Given the description of an element on the screen output the (x, y) to click on. 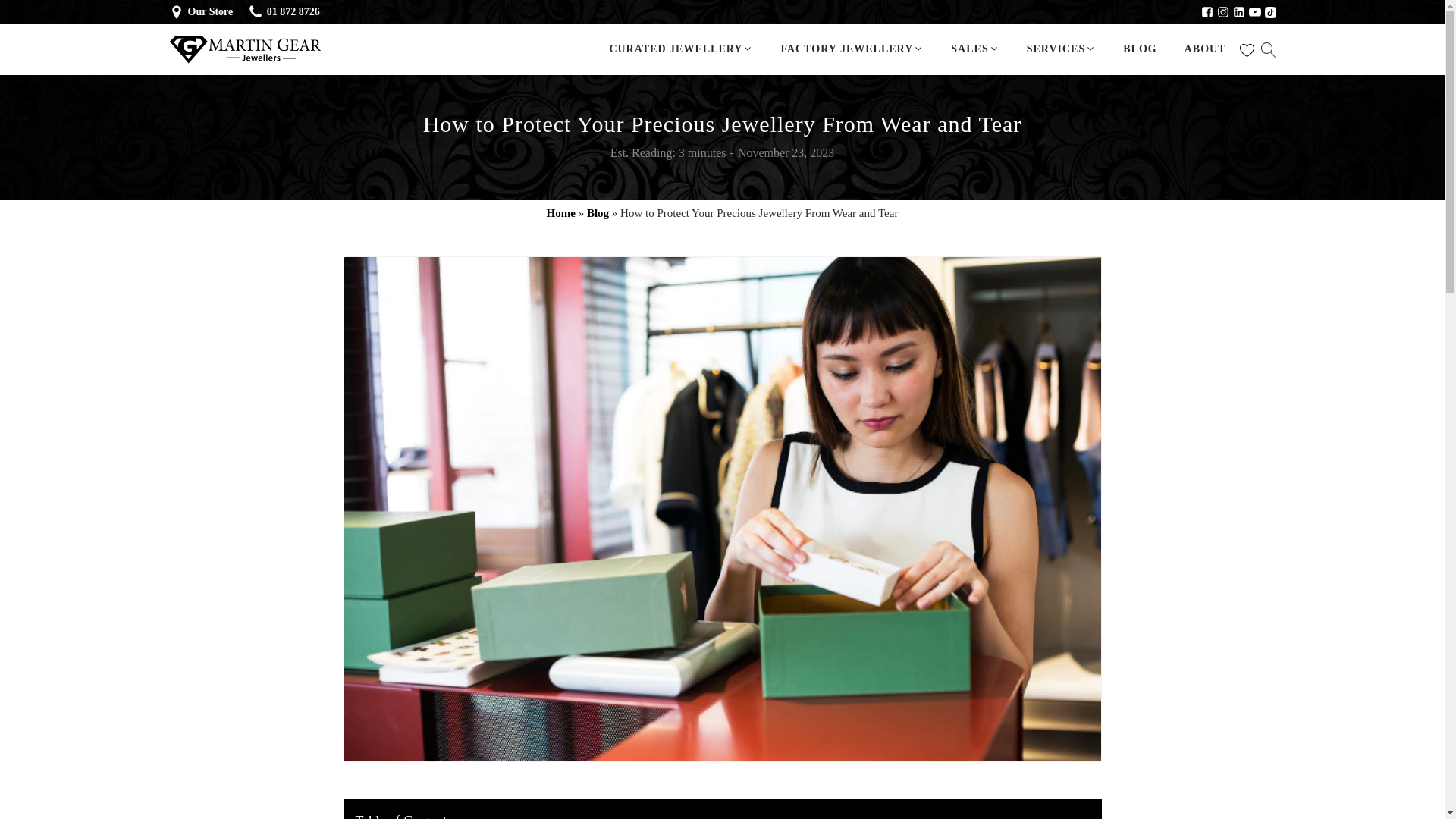
View of YouTube profile (1253, 11)
View of Facebook profile (1206, 11)
Go to our home page (244, 49)
FACTORY JEWELLERY (852, 48)
View of Instagram profile (1221, 11)
View of TikTok profile (1270, 12)
Click to call Martin Gear Jewellers (293, 12)
Our Store  (213, 12)
01 872 8726 (293, 12)
View of LinkedIn profile (1238, 11)
CURATED JEWELLERY (680, 48)
Get directions to Martin Gear Jewellers (213, 12)
